Given the description of an element on the screen output the (x, y) to click on. 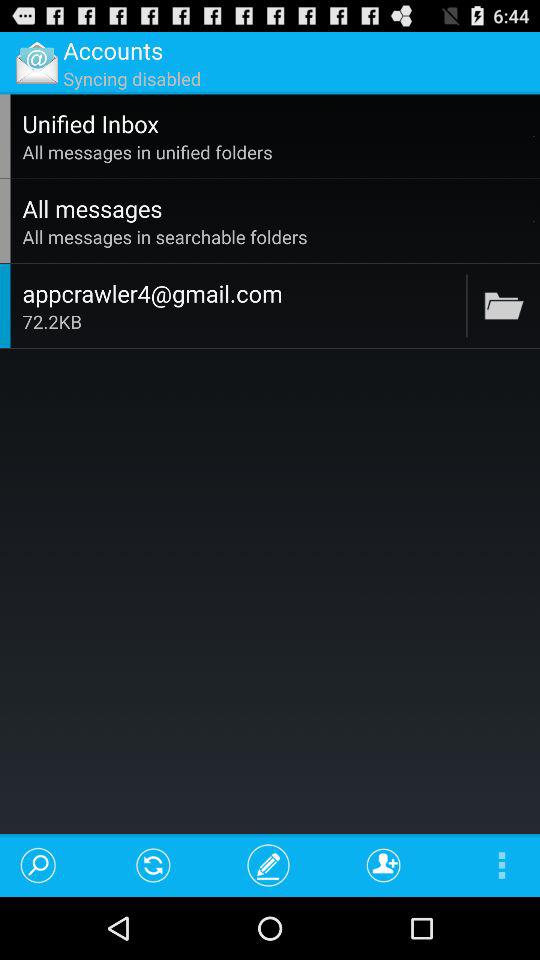
open icon below syncing disabled app (275, 123)
